Given the description of an element on the screen output the (x, y) to click on. 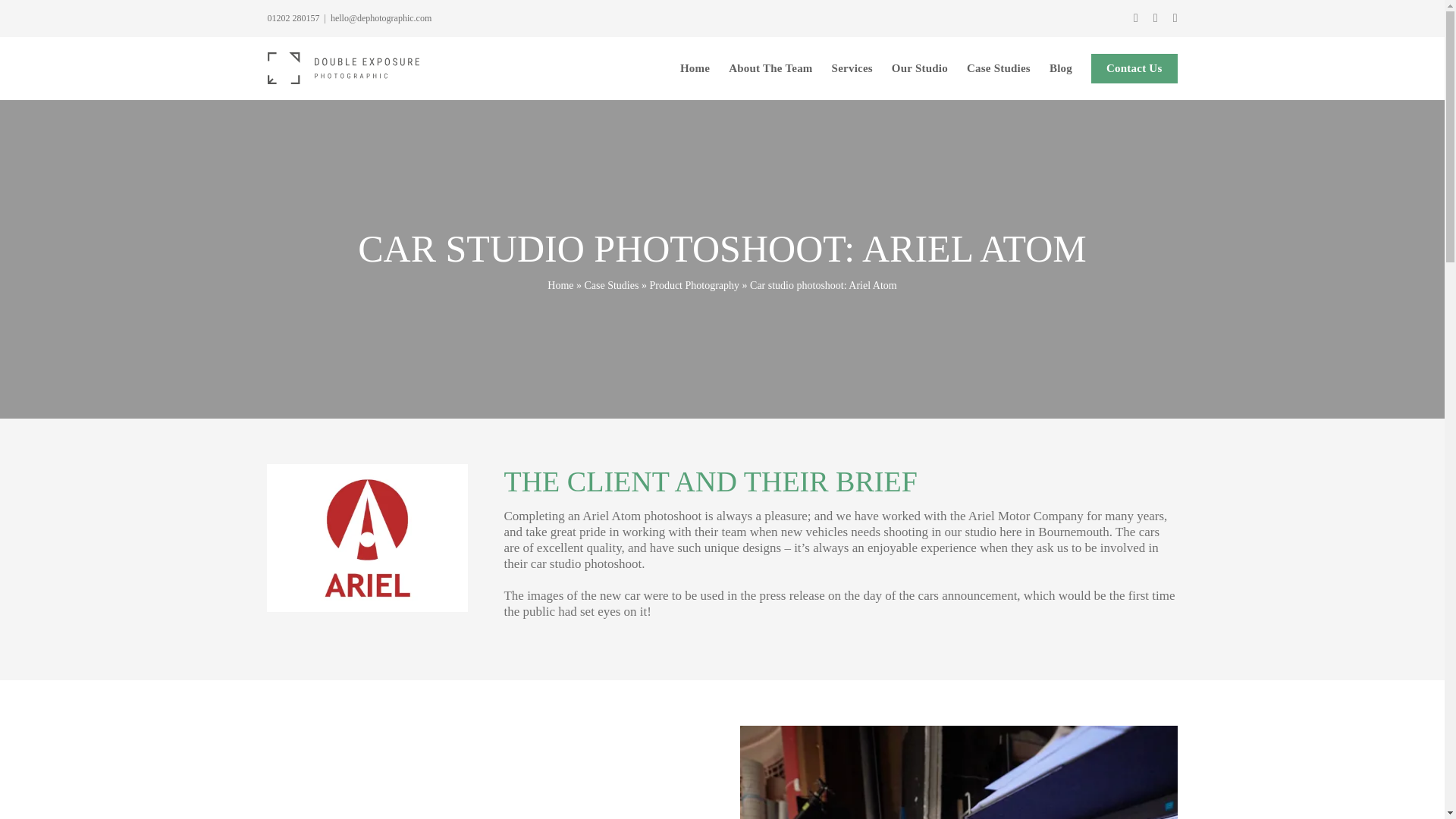
Contact Us (1133, 67)
Case Studies (611, 285)
01202 280157 (292, 18)
About The Team (770, 67)
Home (560, 285)
Our Studio (919, 67)
Product Photography (694, 285)
Case Studies (998, 67)
